Given the description of an element on the screen output the (x, y) to click on. 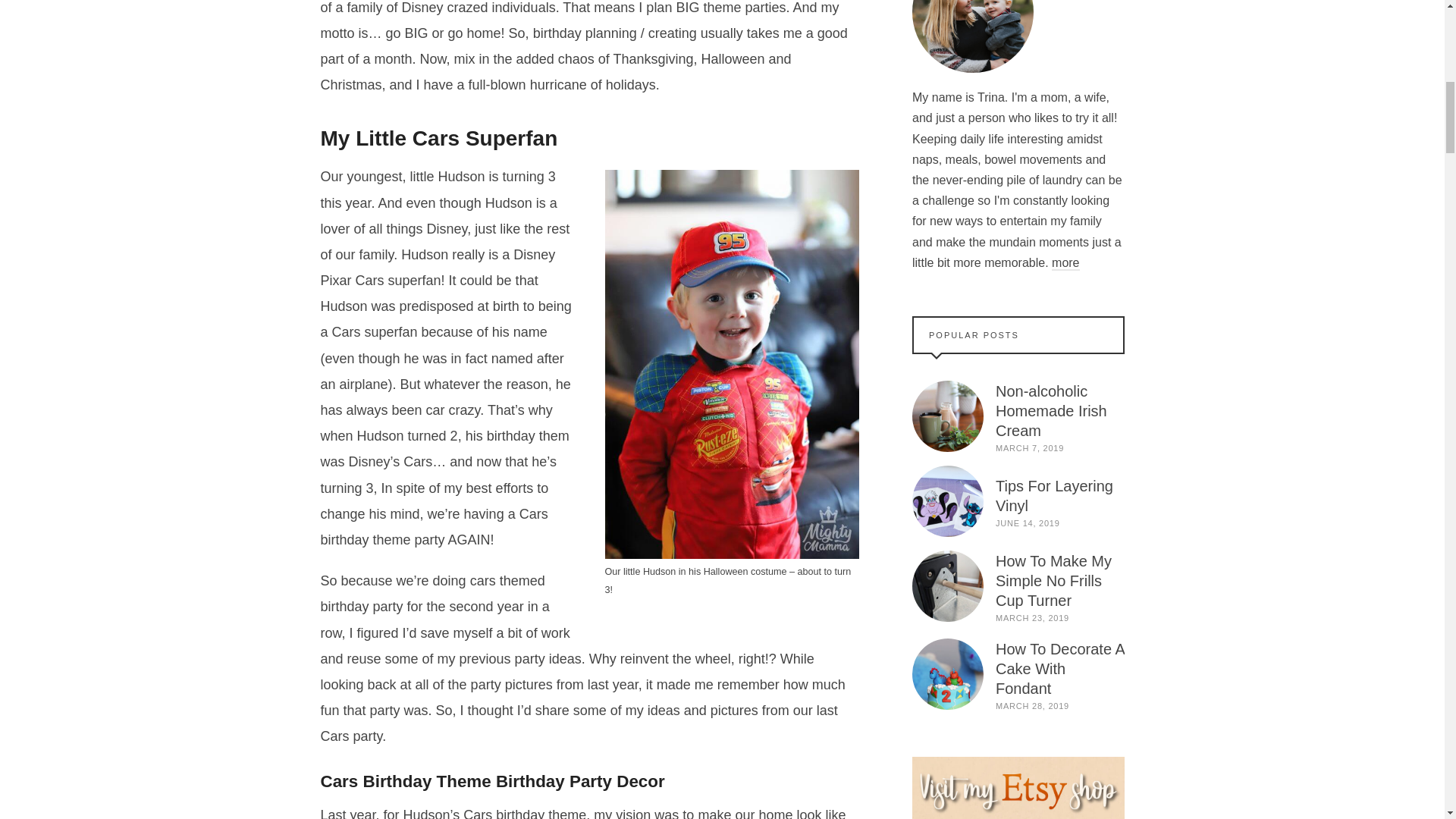
How To Make My Simple No Frills Cup Turner (946, 585)
Non-alcoholic Homemade Irish Cream (946, 416)
Tips For Layering Vinyl (946, 501)
